Given the description of an element on the screen output the (x, y) to click on. 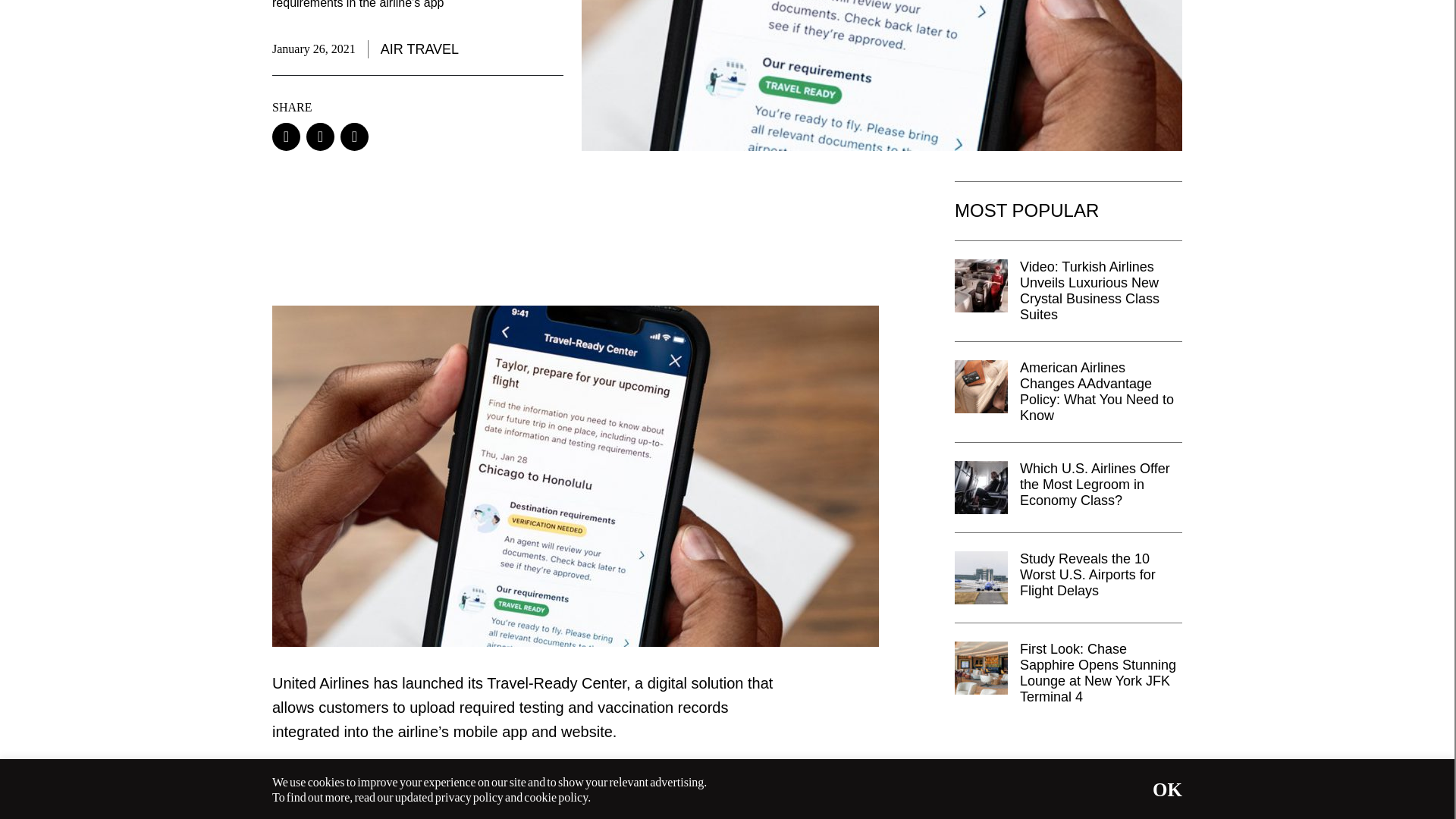
3rd party ad content (533, 230)
3rd party ad content (1068, 778)
